Given the description of an element on the screen output the (x, y) to click on. 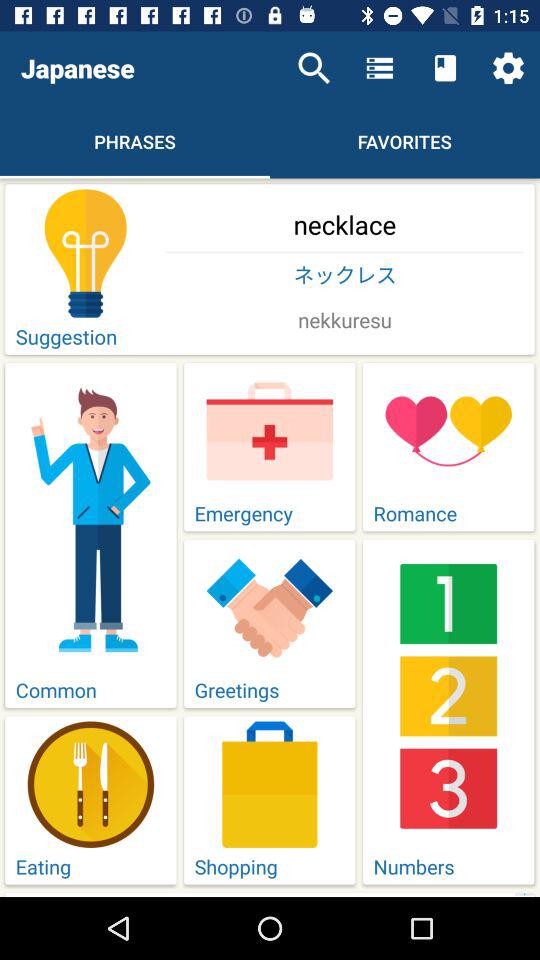
select icon next to the japanese icon (313, 67)
